Given the description of an element on the screen output the (x, y) to click on. 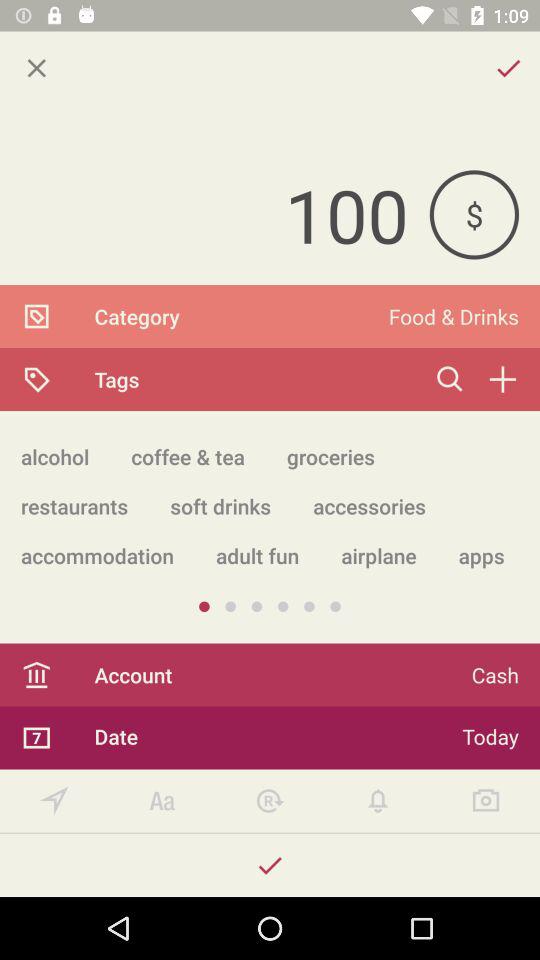
font options (162, 800)
